Given the description of an element on the screen output the (x, y) to click on. 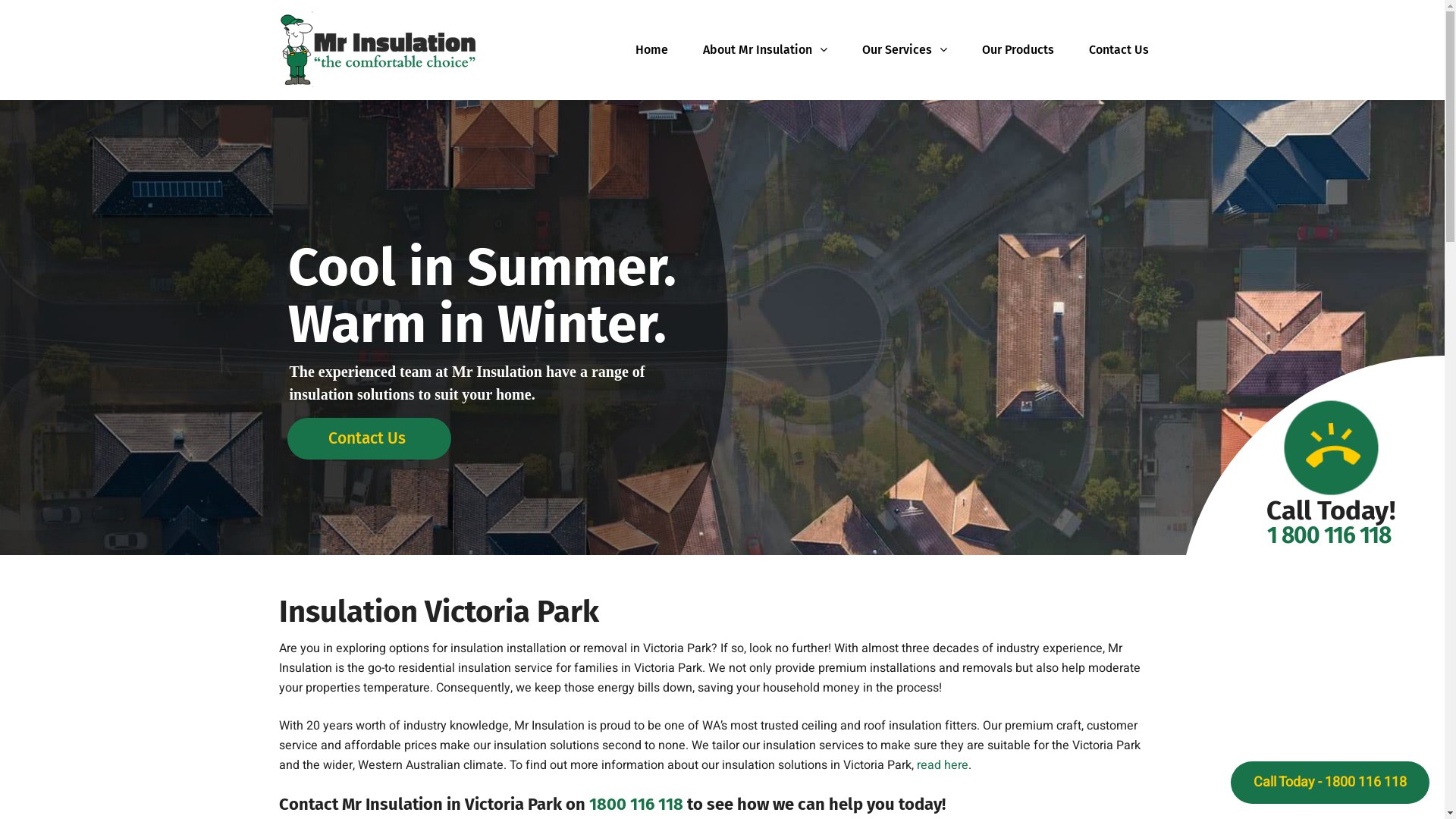
About Mr Insulation Element type: text (764, 50)
Our Services Element type: text (904, 50)
Mr Insulation Element type: hover (377, 49)
Contact Us Element type: text (1117, 50)
read here Element type: text (941, 765)
1800 116 118 Element type: text (635, 803)
Home Element type: text (650, 50)
Our Products Element type: text (1017, 50)
Call Today - 1800 116 118 Element type: text (1329, 782)
